Given the description of an element on the screen output the (x, y) to click on. 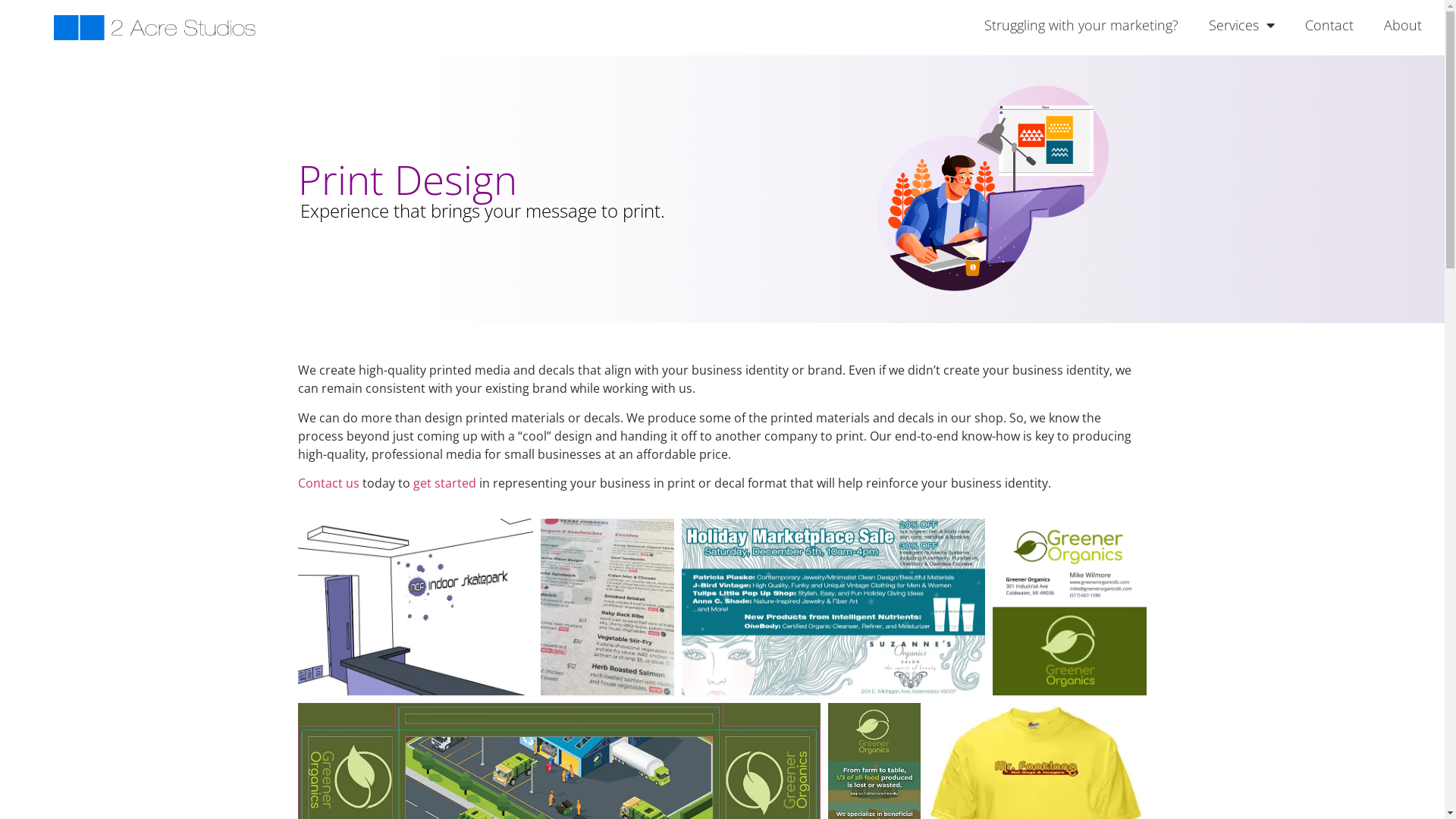
Contact us Element type: text (327, 482)
About Element type: text (1402, 24)
Services Element type: text (1241, 24)
Contact Element type: text (1328, 24)
get started Element type: text (443, 482)
Struggling with your marketing? Element type: text (1081, 24)
